Given the description of an element on the screen output the (x, y) to click on. 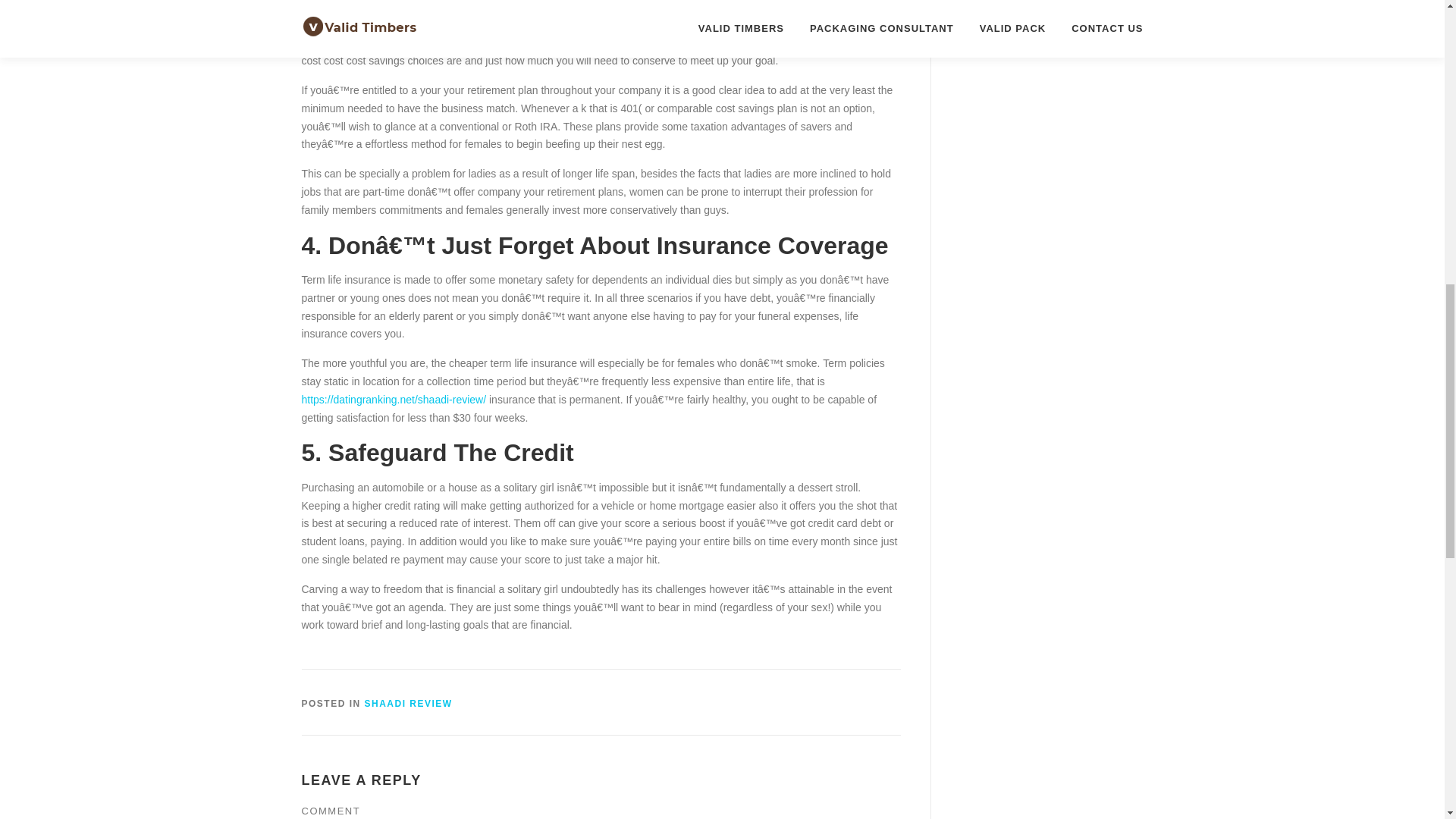
SHAADI REVIEW (408, 703)
